Given the description of an element on the screen output the (x, y) to click on. 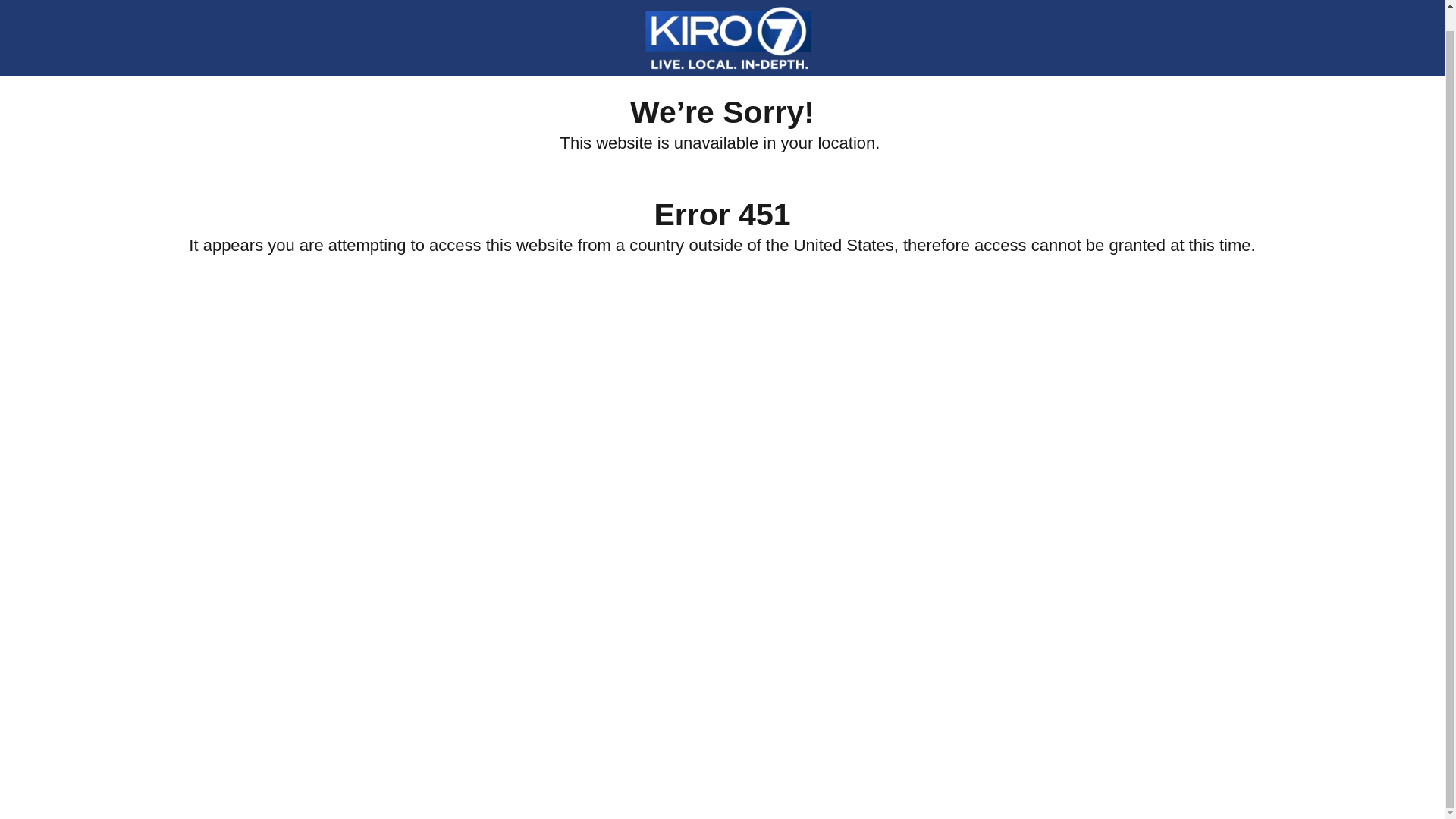
KIRO 7 News Seattle Logo (728, 24)
